Given the description of an element on the screen output the (x, y) to click on. 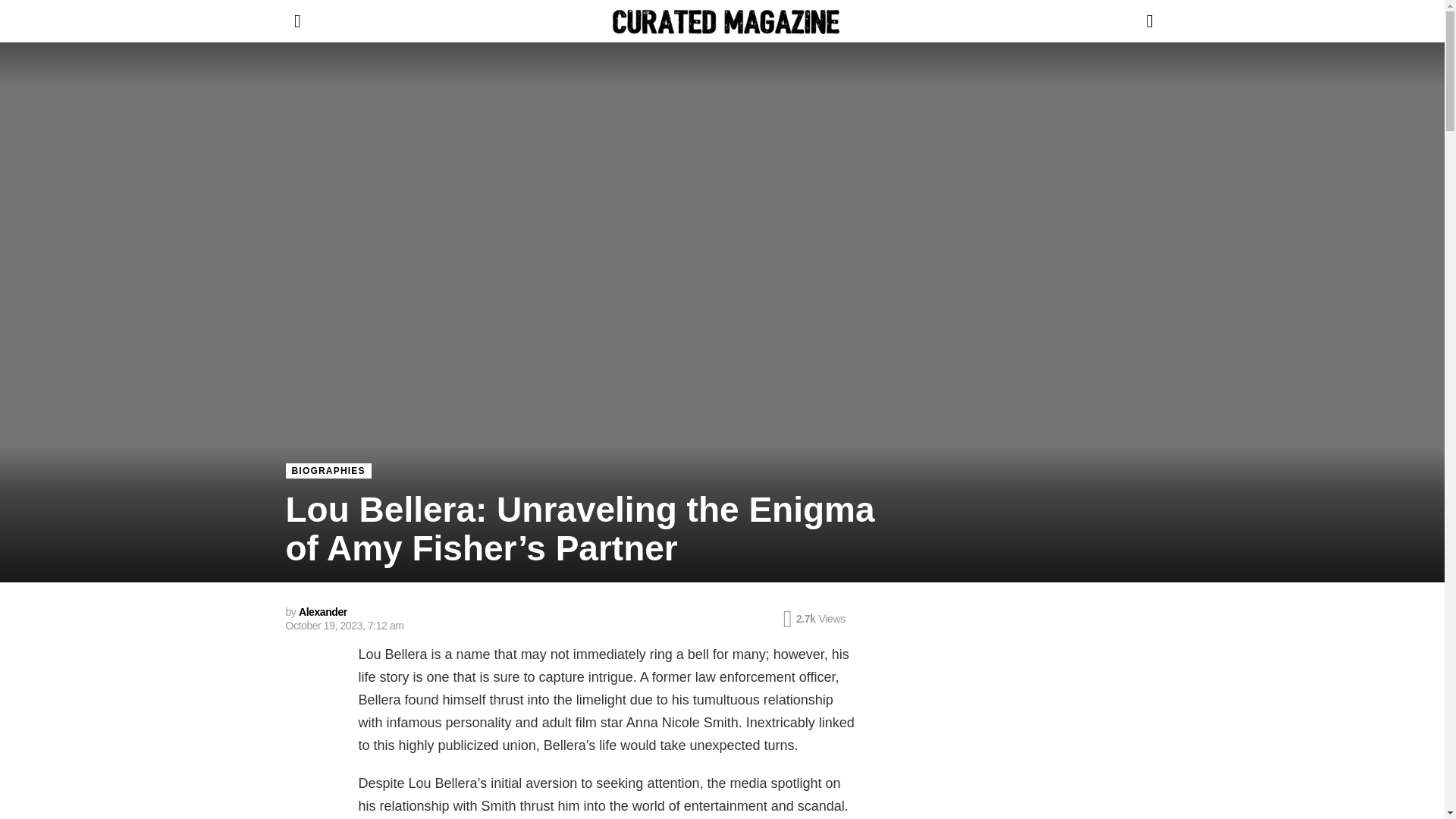
BIOGRAPHIES (328, 470)
Alexander (322, 612)
Posts by Alexander (322, 612)
Menu (296, 21)
